Given the description of an element on the screen output the (x, y) to click on. 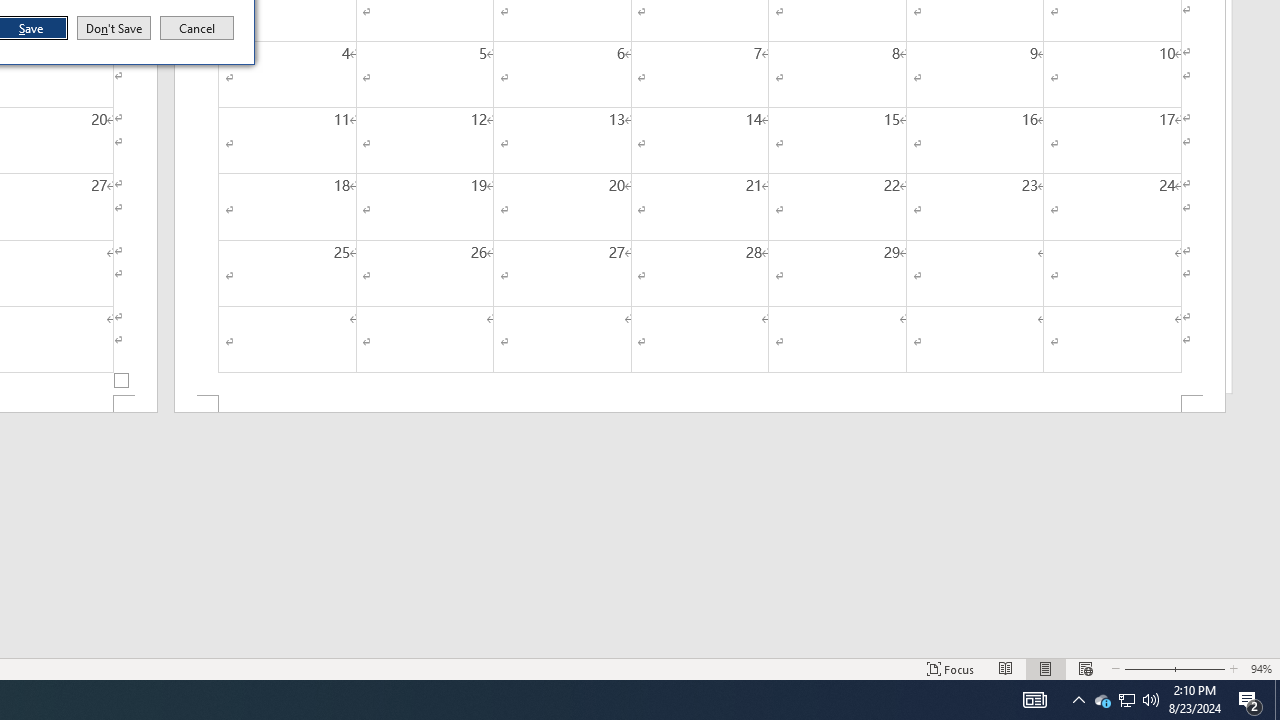
Footer -Section 2- (700, 404)
